Given the description of an element on the screen output the (x, y) to click on. 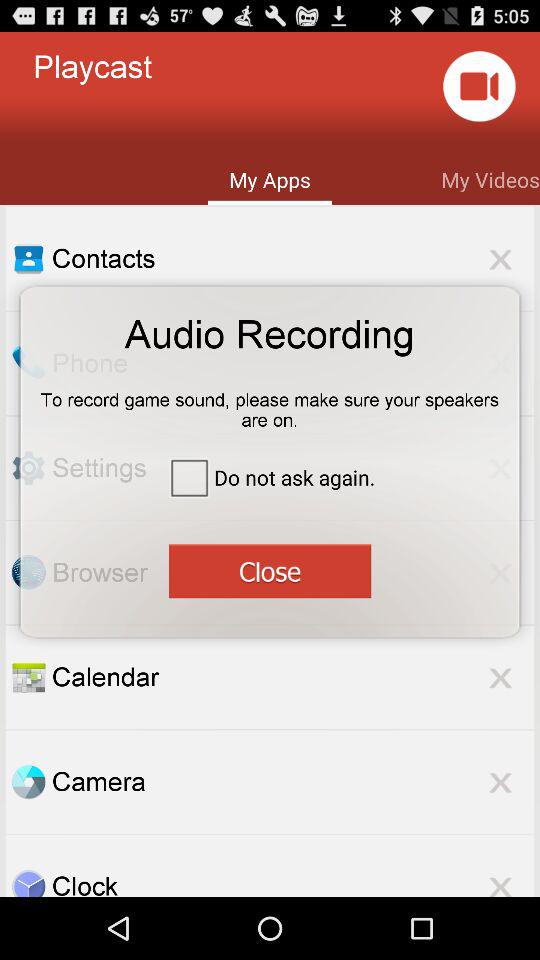
press the checkbox above do not ask icon (269, 403)
